Given the description of an element on the screen output the (x, y) to click on. 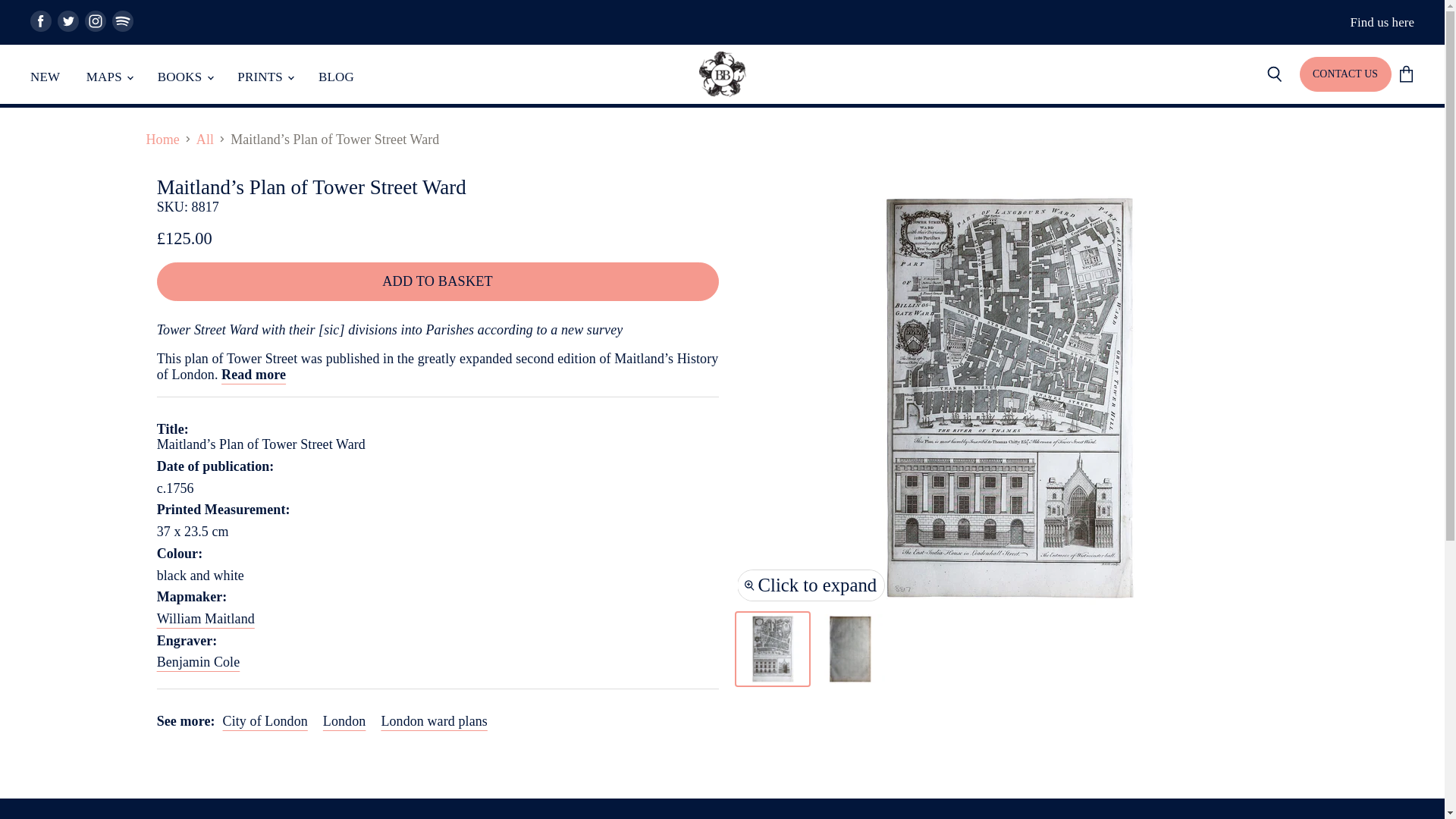
Find us here (1382, 22)
MAPS (108, 77)
Find us on Instagram (95, 21)
NEW (44, 77)
Facebook (41, 21)
Instagram (95, 21)
Find us on Pinterest (122, 21)
Find us on Facebook (41, 21)
Pinterest (122, 21)
Search (1274, 73)
